Given the description of an element on the screen output the (x, y) to click on. 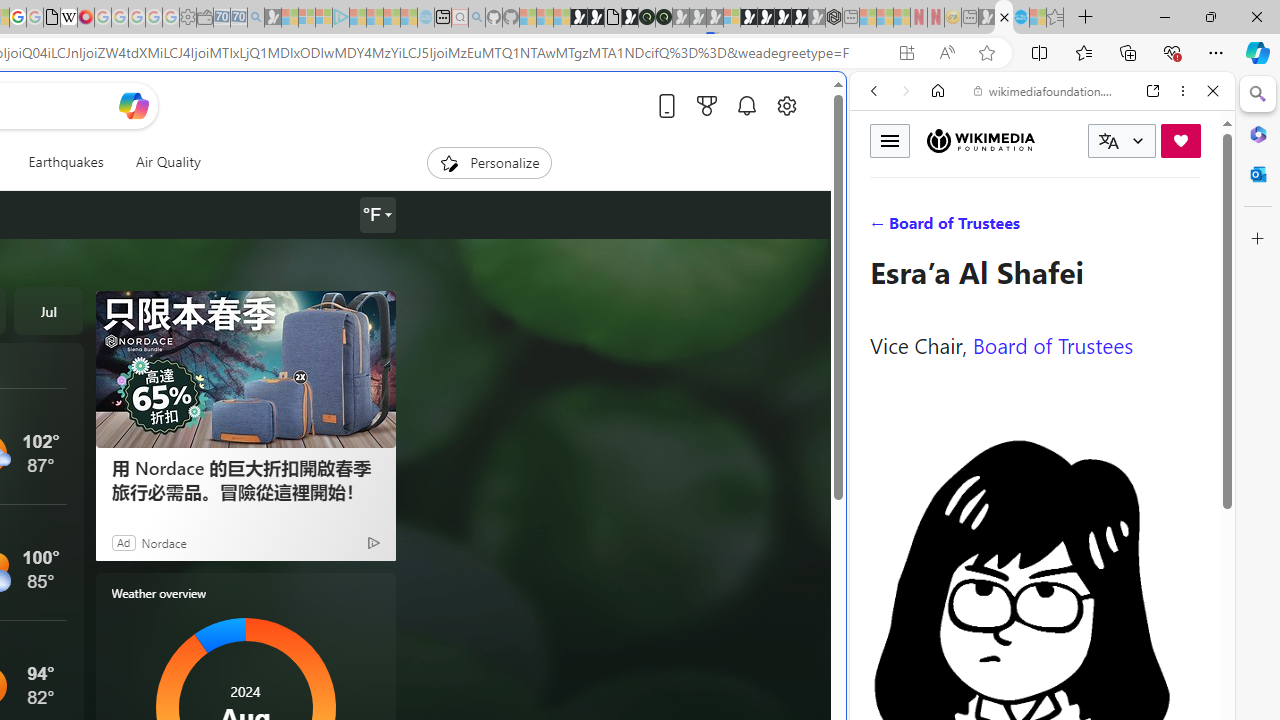
App available. Install Microsoft Start Weather (906, 53)
Open link in new tab (1153, 91)
Earthquakes (65, 162)
google_privacy_policy_zh-CN.pdf (51, 17)
Search Filter, IMAGES (939, 228)
Microsoft rewards (707, 105)
